Given the description of an element on the screen output the (x, y) to click on. 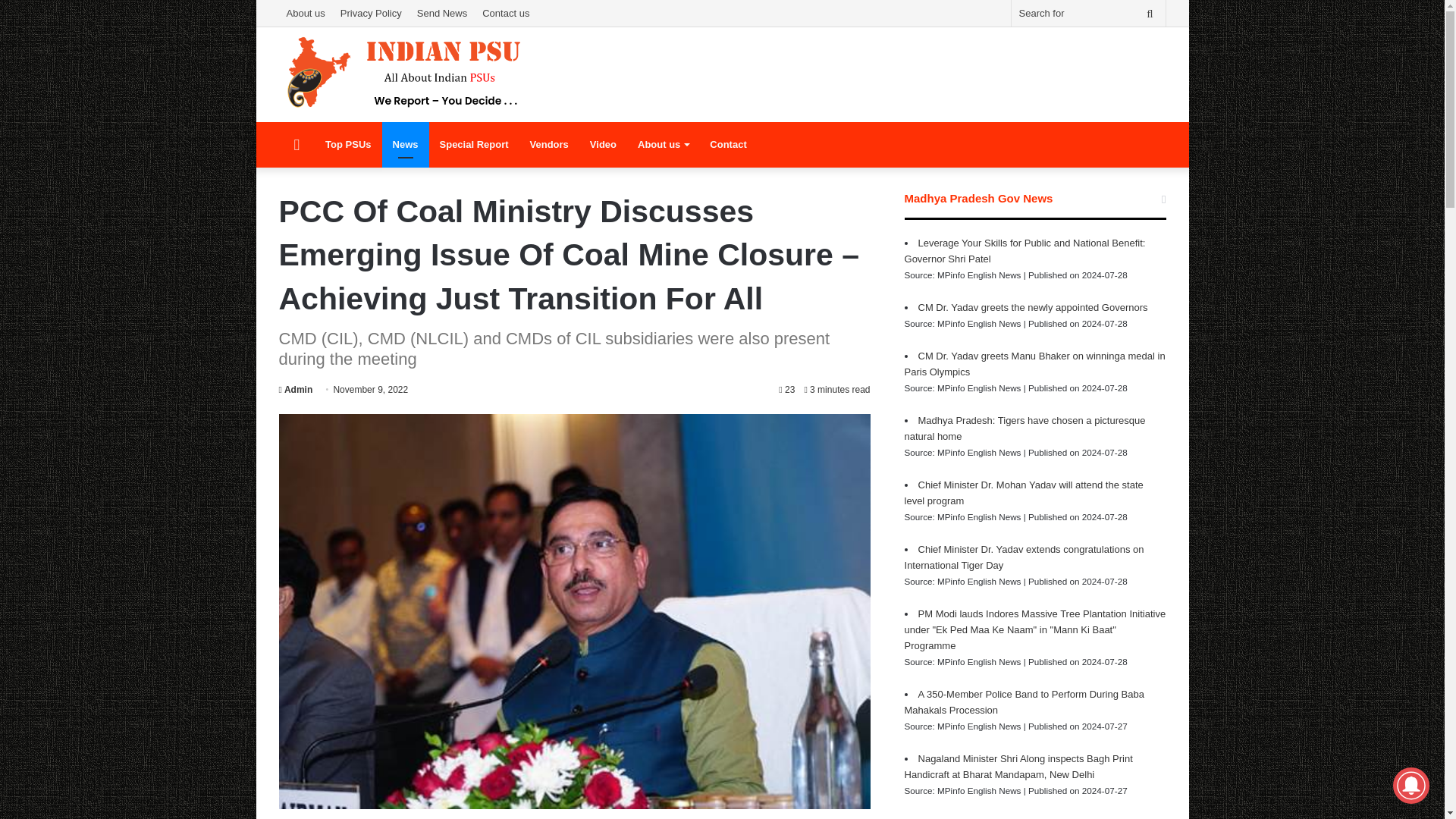
About us (662, 144)
Admin (296, 389)
Search for (1088, 13)
Send News (441, 13)
Privacy Policy (371, 13)
Contact us (505, 13)
About us (306, 13)
Vendors (549, 144)
Admin (296, 389)
Video (603, 144)
News (405, 144)
Top PSUs (347, 144)
Contact (727, 144)
Special Report (474, 144)
